Given the description of an element on the screen output the (x, y) to click on. 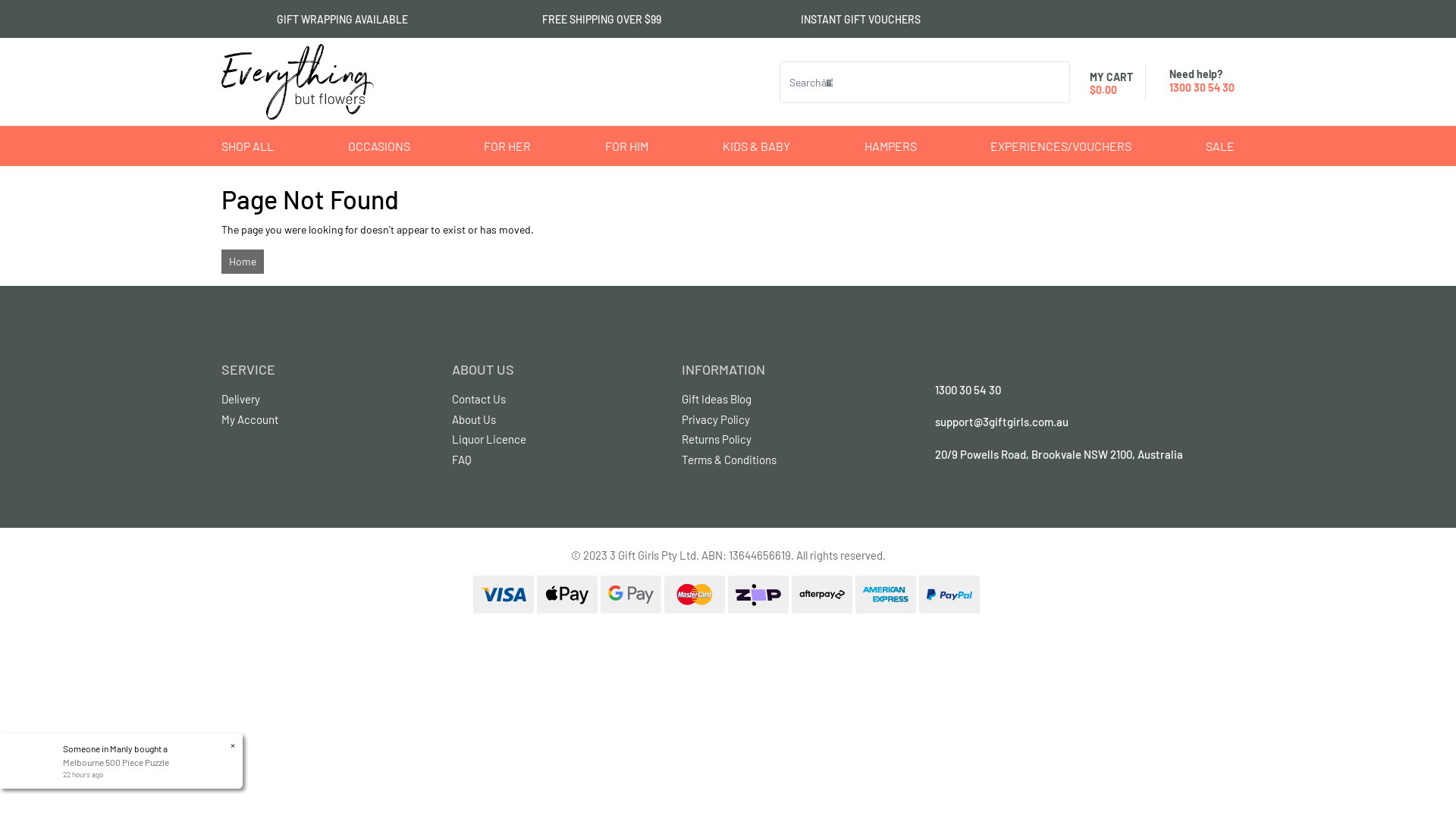
Home Element type: text (242, 261)
Delivery Element type: text (325, 399)
SALE Element type: text (1216, 145)
My Account Element type: text (325, 419)
GIFT WRAPPING AVAILABLE Element type: text (338, 18)
INSTANT GIFT VOUCHERS Element type: text (857, 18)
Terms & Conditions Element type: text (785, 459)
EXPERIENCES/VOUCHERS Element type: text (1060, 145)
FAQ Element type: text (555, 459)
Facebook Element type: text (917, 491)
1300 30 54 30 Element type: text (1201, 86)
Returns Policy Element type: text (785, 439)
FOR HIM Element type: text (626, 145)
3 Gift Girls Pty Ltd Element type: hover (297, 80)
MY CART
$0.00 Element type: text (1107, 82)
FREE SHIPPING OVER $99 Element type: text (598, 18)
Contact Us Element type: text (555, 399)
FOR HER Element type: text (506, 145)
support@3giftgirls.com.au Element type: text (1001, 421)
Gift Ideas Blog Element type: text (785, 399)
Liquor Licence Element type: text (555, 439)
About Us Element type: text (555, 419)
Instagram Element type: text (926, 491)
Privacy Policy Element type: text (785, 419)
1300 30 54 30 Element type: text (968, 389)
Search Element type: text (1062, 81)
KIDS & BABY Element type: text (756, 145)
HAMPERS Element type: text (890, 145)
OCCASIONS Element type: text (379, 145)
SHOP ALL Element type: text (250, 145)
